Given the description of an element on the screen output the (x, y) to click on. 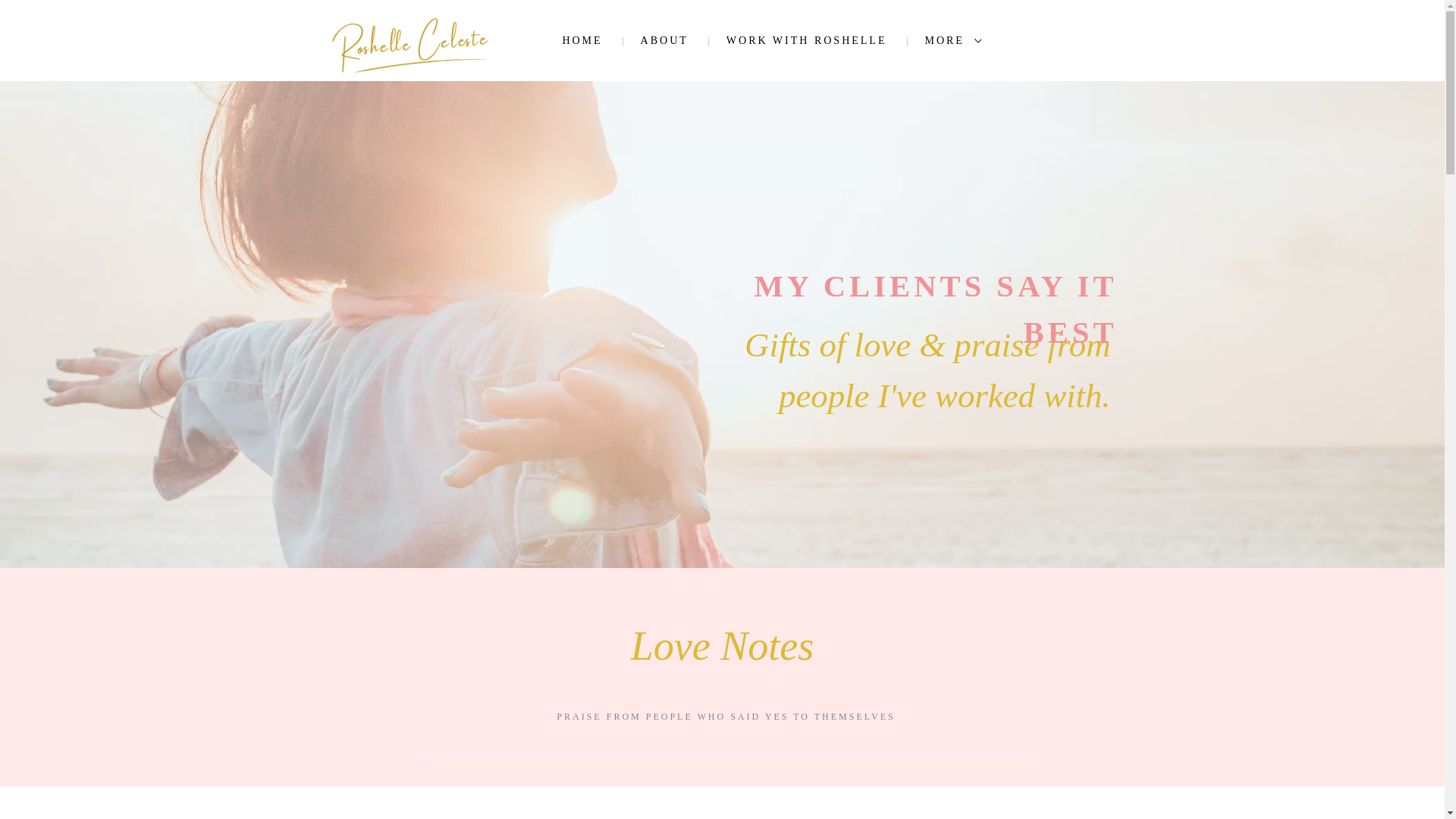
WORK WITH ROSHELLE (806, 40)
ABOUT (664, 40)
MORE (953, 40)
HOME (581, 40)
Roshelle Celeste Logo 2 (409, 45)
